Given the description of an element on the screen output the (x, y) to click on. 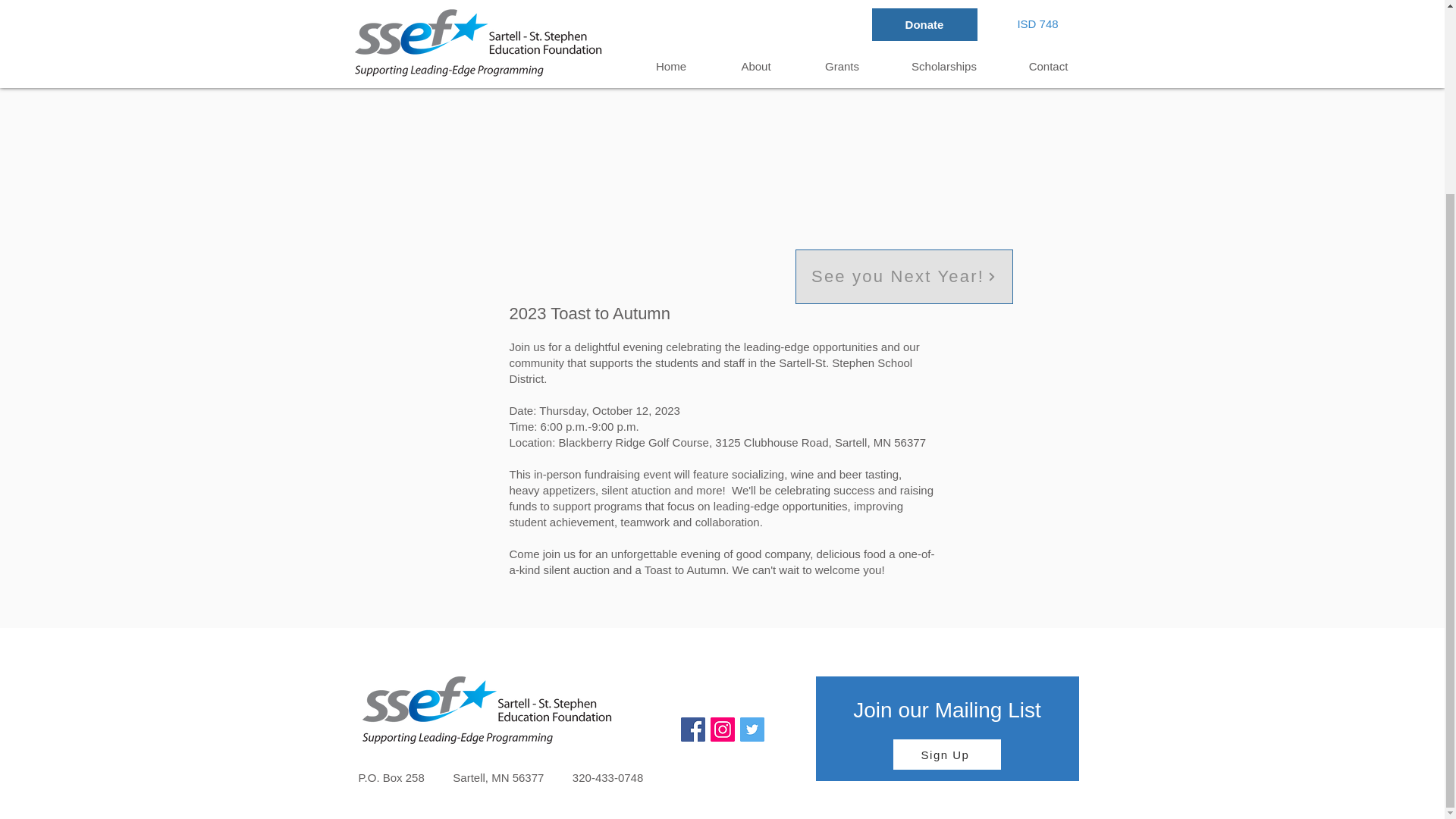
See you Next Year! (902, 276)
Sign Up (947, 754)
